Given the description of an element on the screen output the (x, y) to click on. 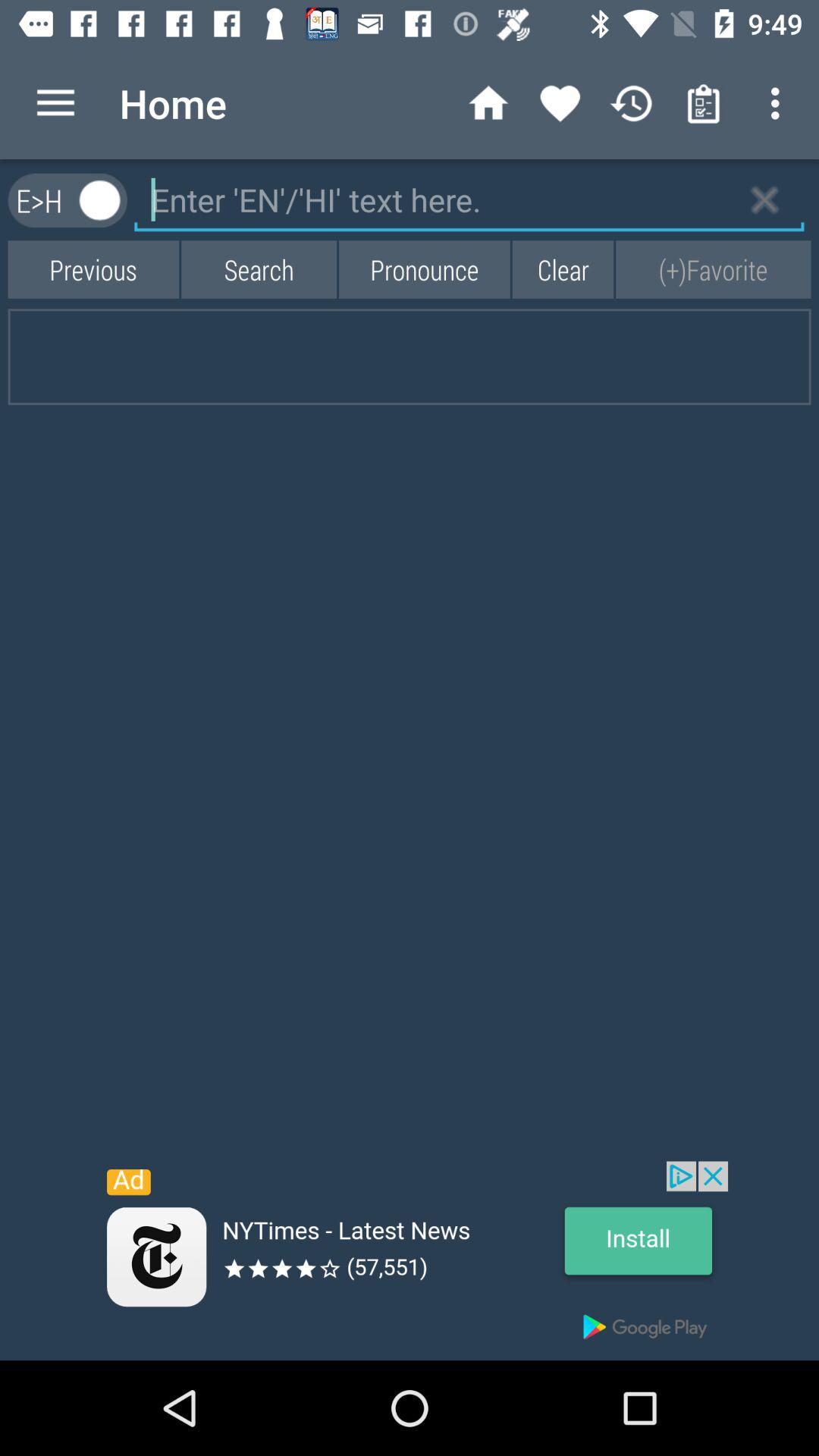
click on the button which is between search and clear (424, 269)
click on the second icon from the right at the top of the page (703, 103)
select the box right to clear (713, 269)
click on the button beside search (93, 269)
click on the button beside previous (258, 269)
click the button between pronounce and favorite (562, 269)
